Given the description of an element on the screen output the (x, y) to click on. 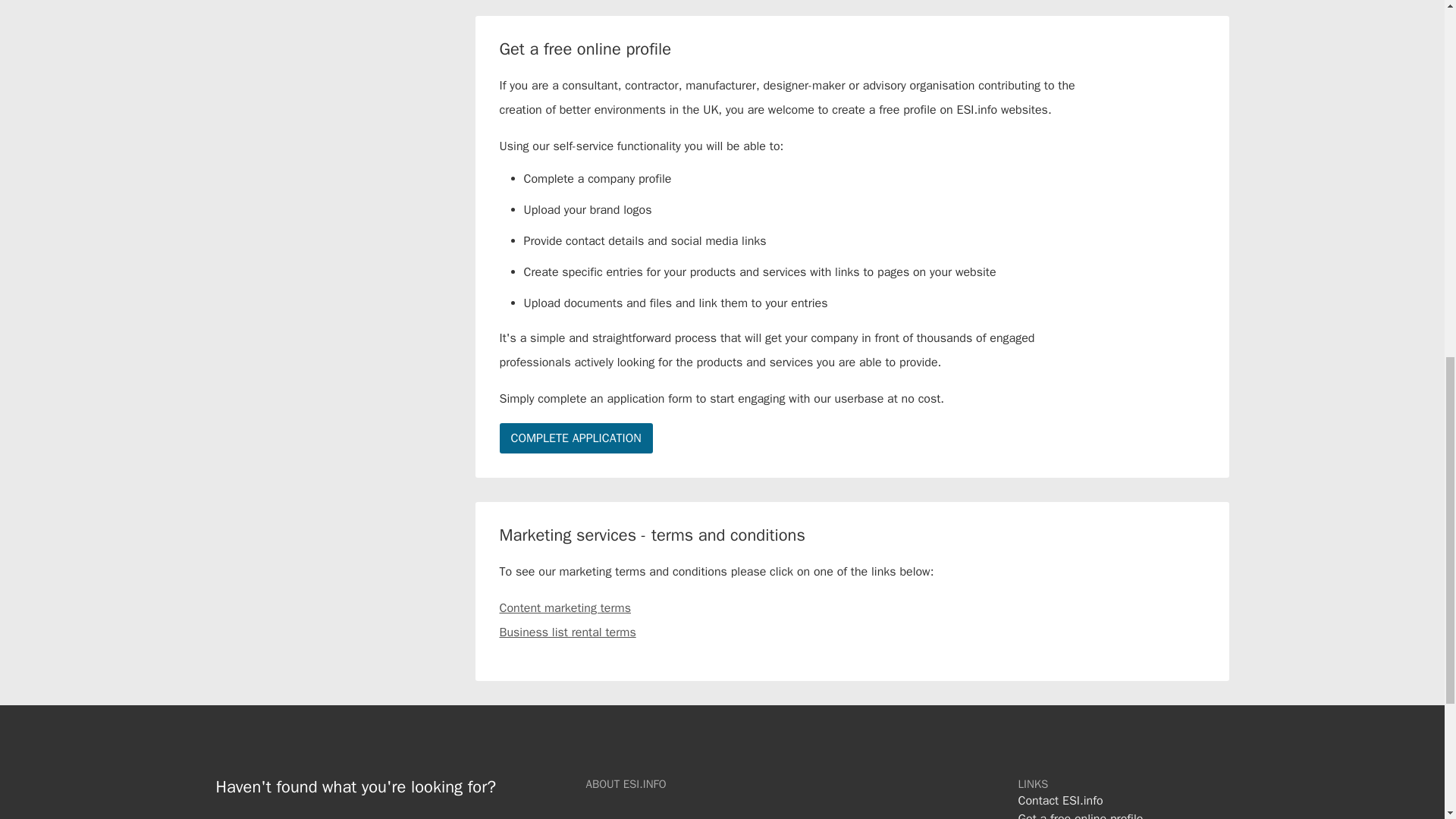
Business list rental terms (566, 631)
Get a free online profile (1079, 814)
COMPLETE APPLICATION (575, 438)
Contact ESI.info (1059, 800)
Content marketing terms (564, 607)
